Given the description of an element on the screen output the (x, y) to click on. 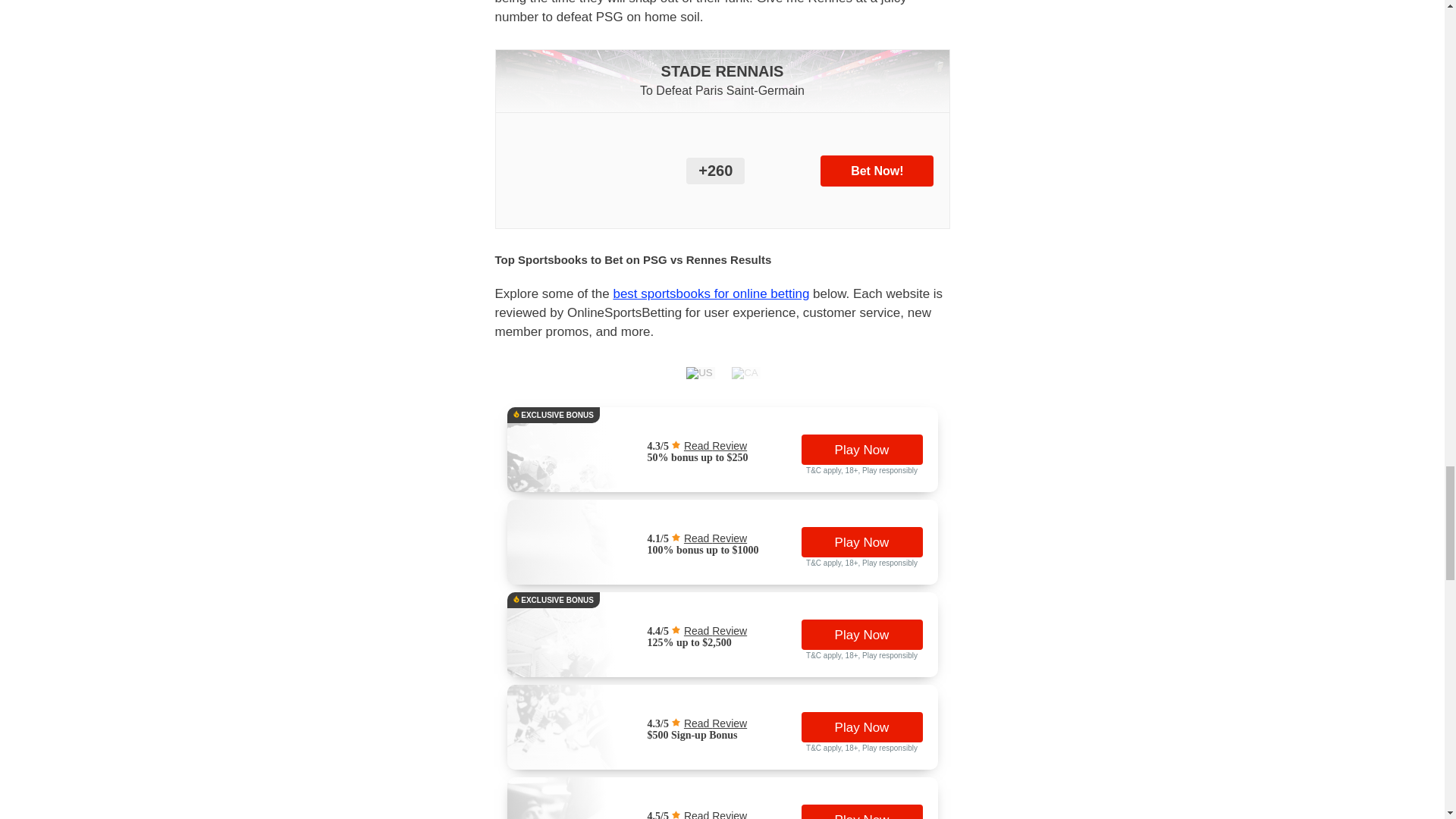
xbet (586, 737)
bovada (586, 460)
betonline (586, 553)
betnow (586, 811)
betus (586, 645)
